Given the description of an element on the screen output the (x, y) to click on. 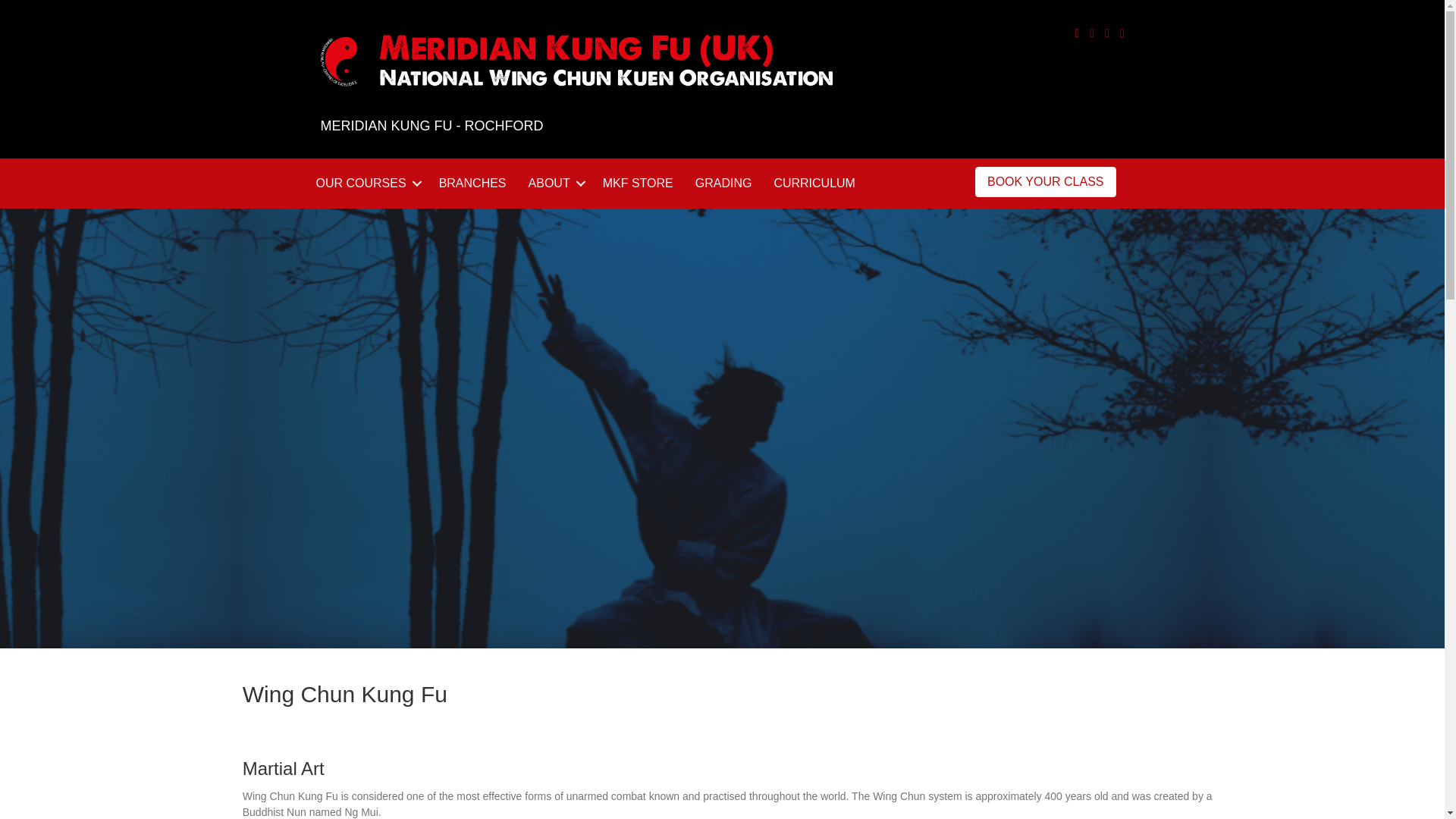
Join The Meridian Centre (729, 768)
BRANCHES (472, 183)
GRADING (723, 183)
MKF STORE (638, 183)
Meridian HQ Logo (575, 60)
ABOUT (554, 183)
OUR COURSES (365, 183)
BOOK YOUR CLASS (1045, 182)
CURRICULUM (814, 183)
